Given the description of an element on the screen output the (x, y) to click on. 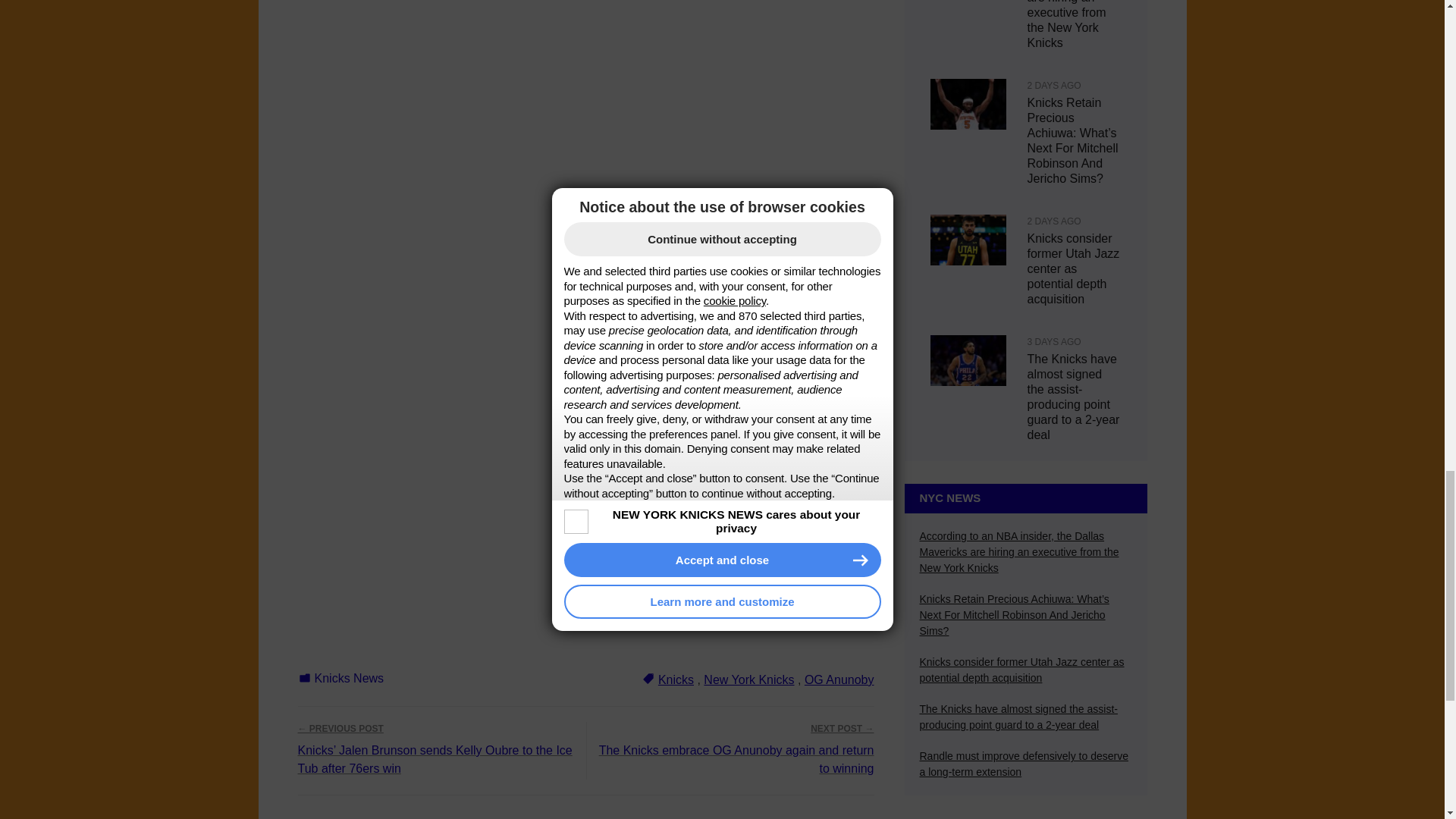
OG Anunoby (840, 679)
New York Knicks (748, 679)
Knicks (676, 679)
Knicks News (349, 677)
